Given the description of an element on the screen output the (x, y) to click on. 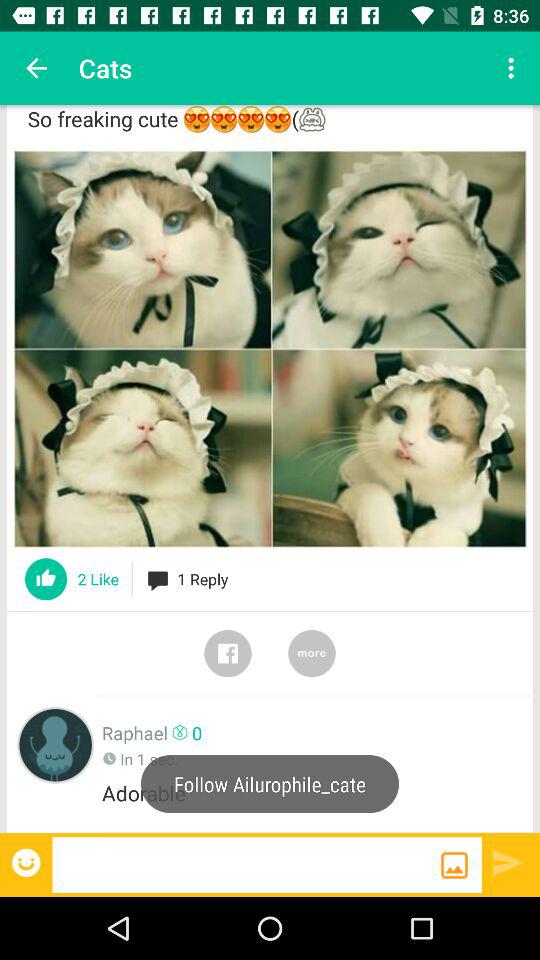
click icon next to raphael item (55, 744)
